Given the description of an element on the screen output the (x, y) to click on. 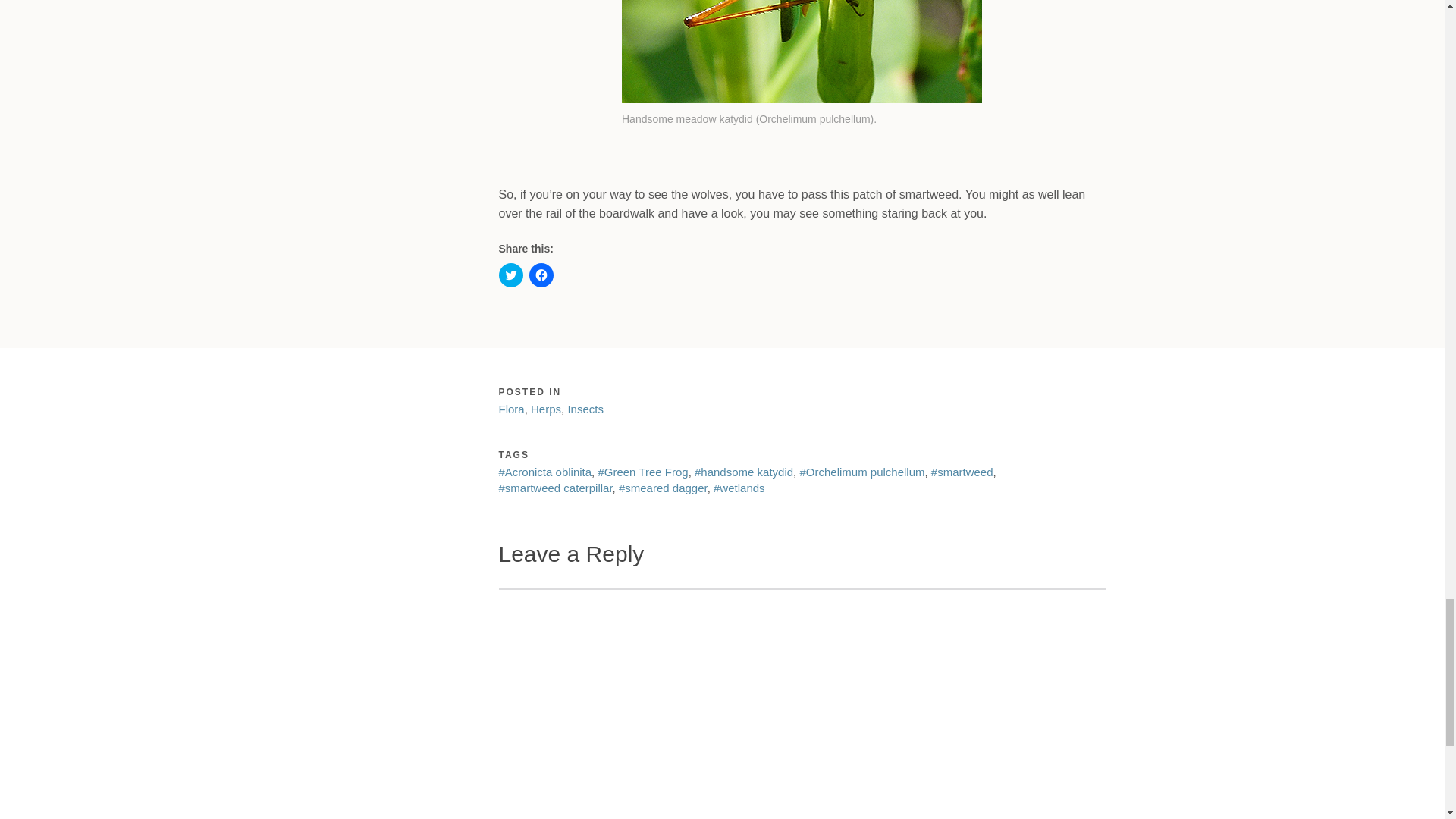
Flora (511, 408)
Click to share on Twitter (510, 274)
Click to share on Facebook (541, 274)
Insects (585, 408)
Herps (545, 408)
